Given the description of an element on the screen output the (x, y) to click on. 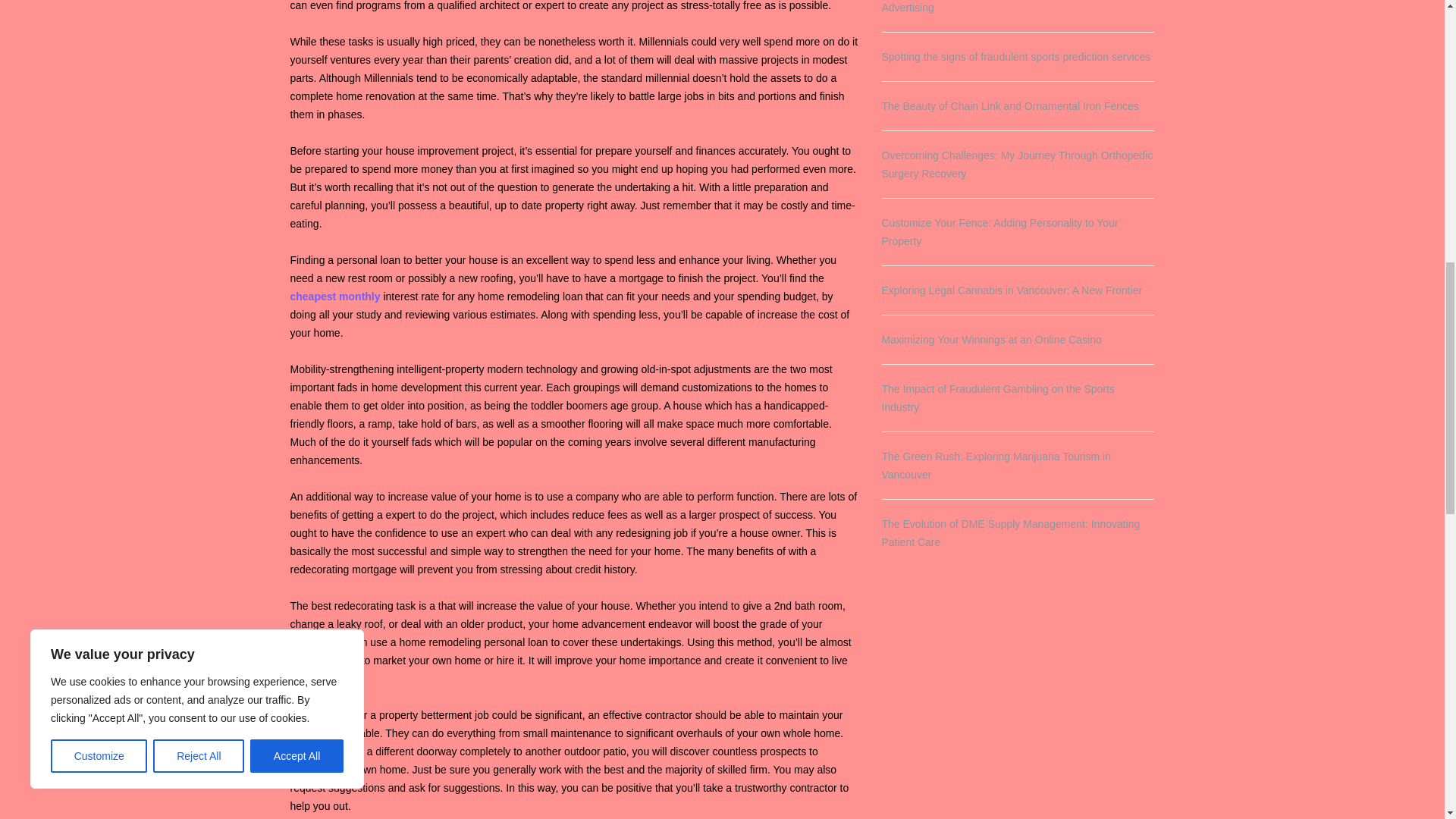
cheapest monthly (334, 296)
